Given the description of an element on the screen output the (x, y) to click on. 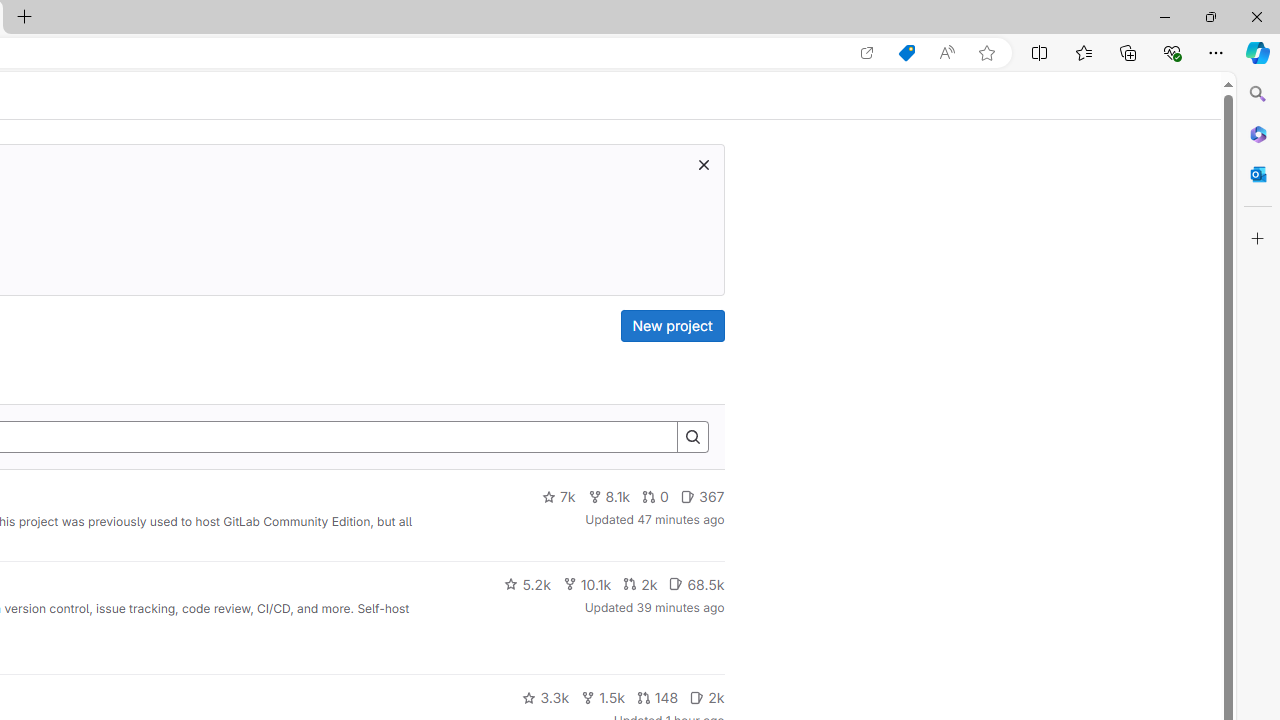
10.1k (586, 583)
0 (655, 497)
